Given the description of an element on the screen output the (x, y) to click on. 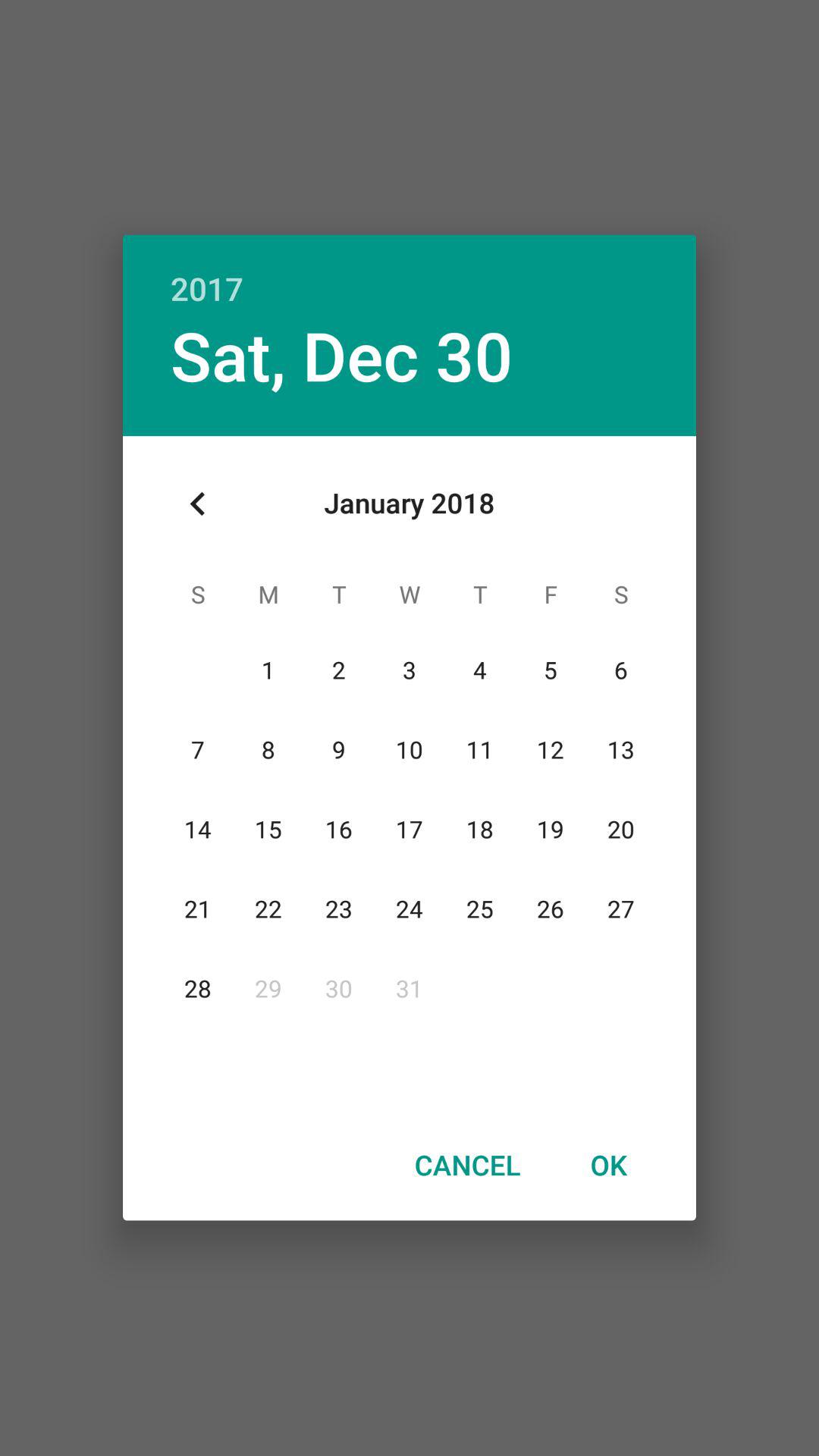
turn on sat, dec 30 item (341, 354)
